Given the description of an element on the screen output the (x, y) to click on. 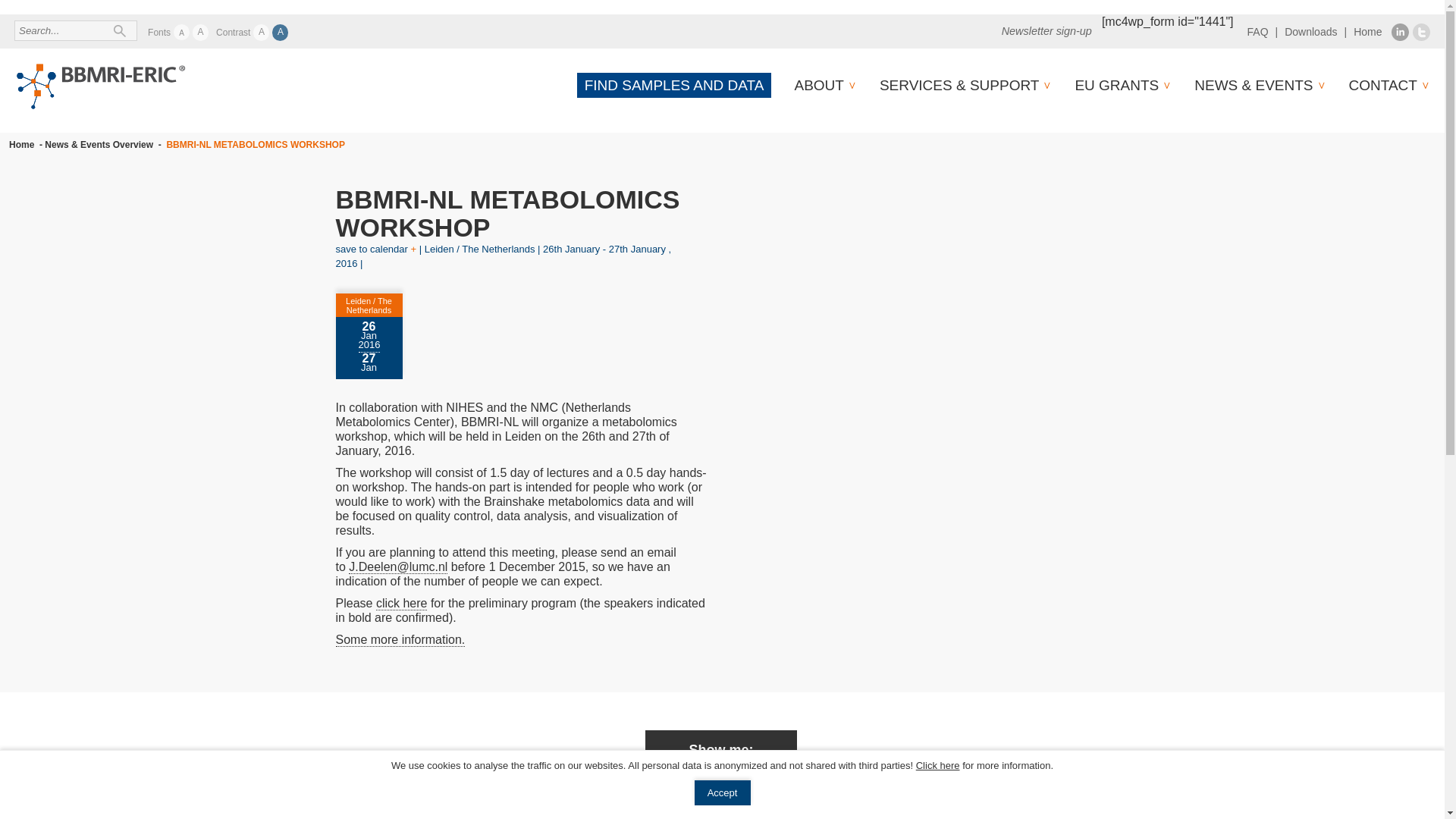
Downloads (1310, 31)
EU GRANTS (1116, 84)
Home (1367, 31)
FIND SAMPLES AND DATA (673, 84)
FAQ (1257, 31)
ABOUT (818, 84)
